Given the description of an element on the screen output the (x, y) to click on. 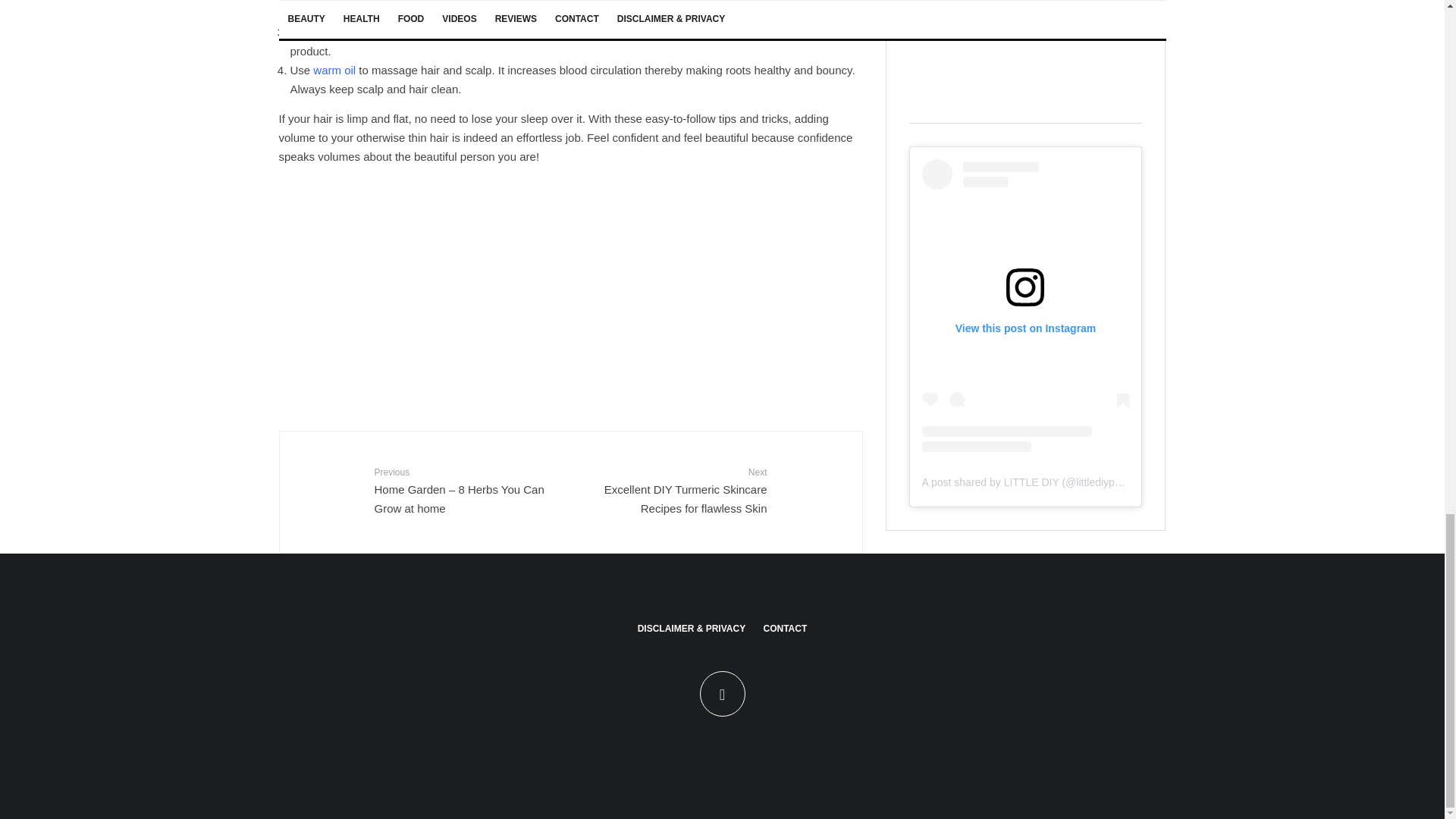
10 Best ways to use Epsom salt in your beauty routine (629, 31)
Advertisement (571, 284)
